Given the description of an element on the screen output the (x, y) to click on. 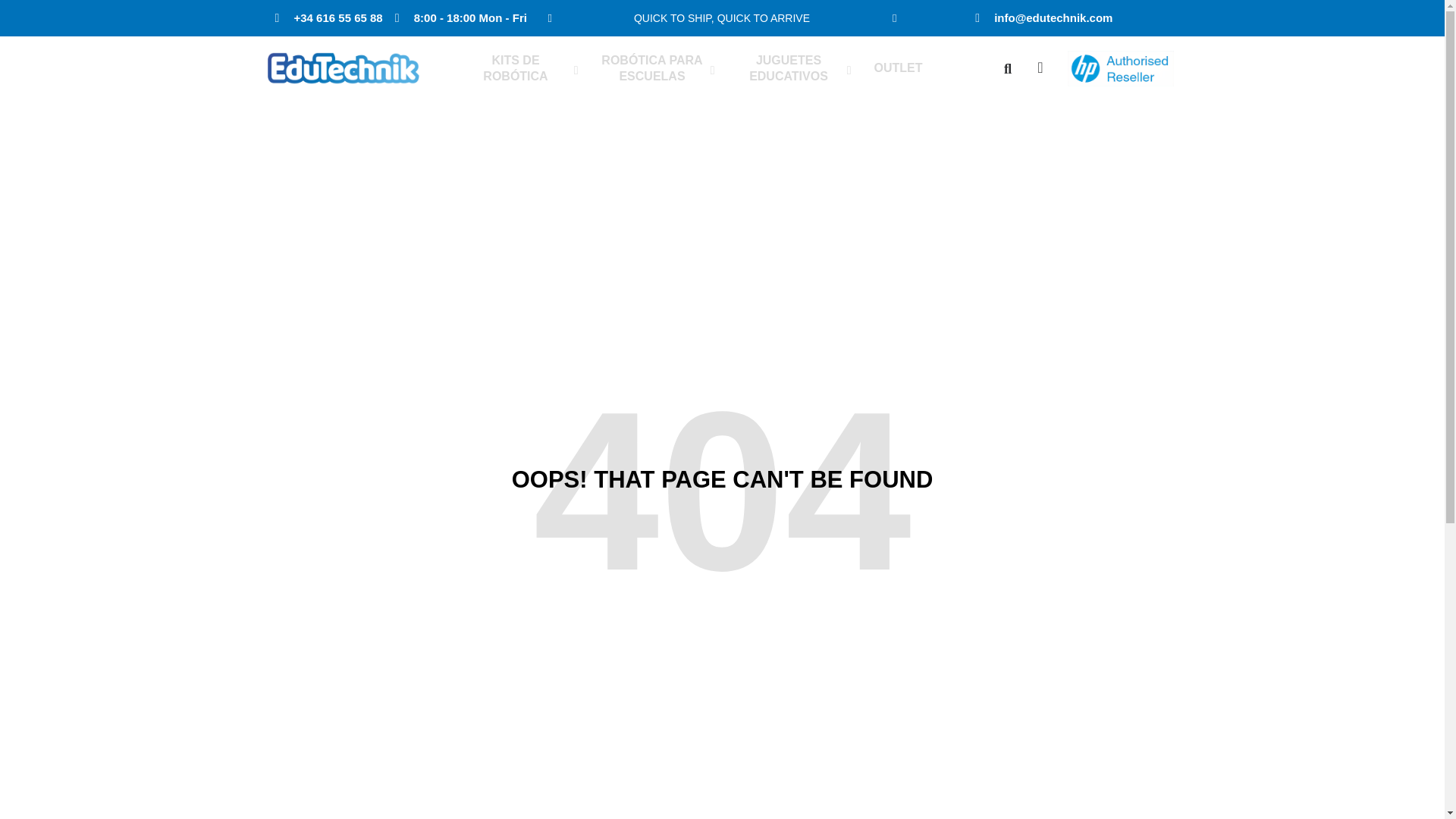
JUGUETES EDUCATIVOS (790, 68)
OUTLET (898, 68)
